Given the description of an element on the screen output the (x, y) to click on. 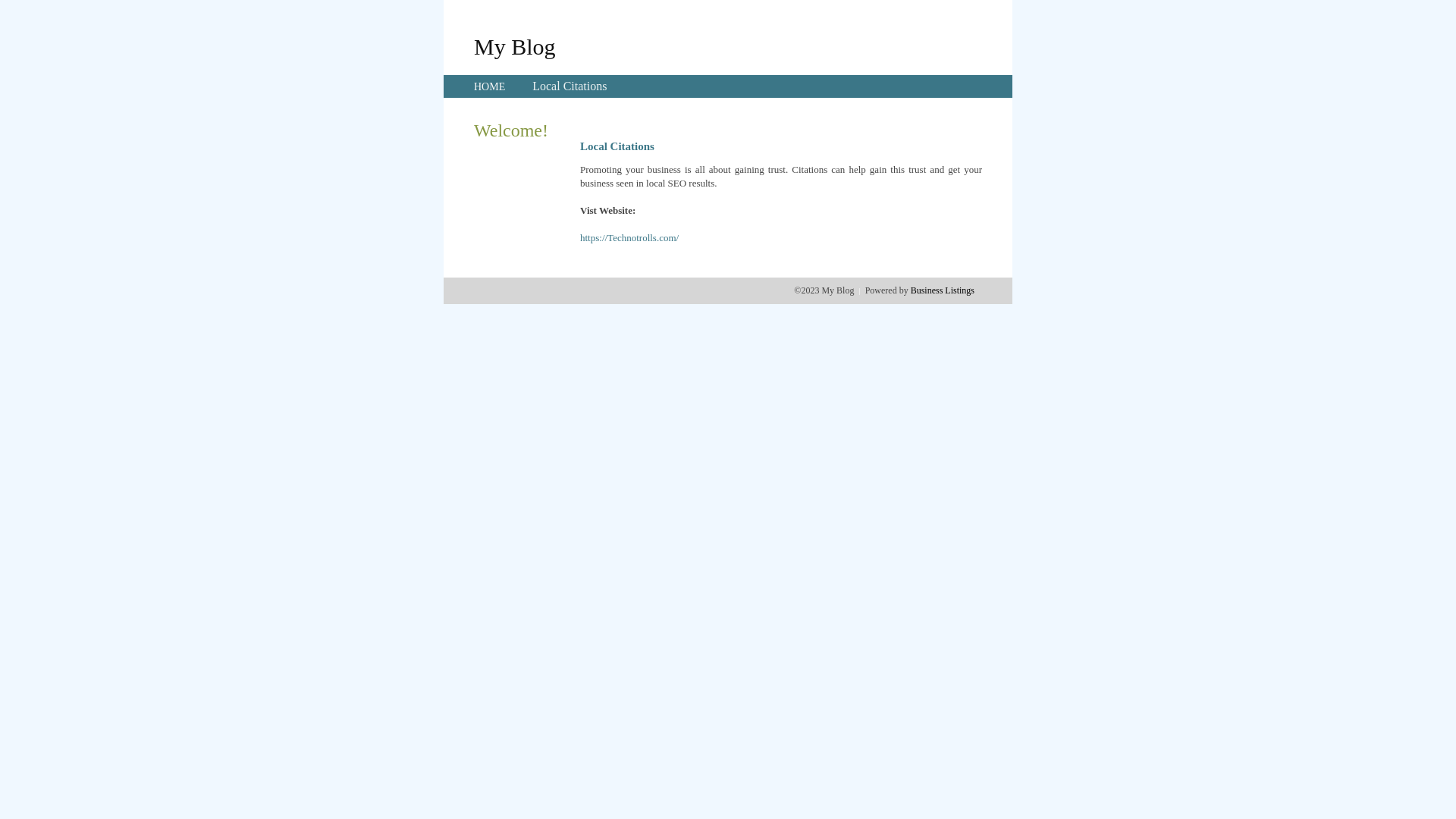
My Blog Element type: text (514, 46)
Business Listings Element type: text (942, 290)
Local Citations Element type: text (569, 85)
HOME Element type: text (489, 86)
https://Technotrolls.com/ Element type: text (629, 237)
